Given the description of an element on the screen output the (x, y) to click on. 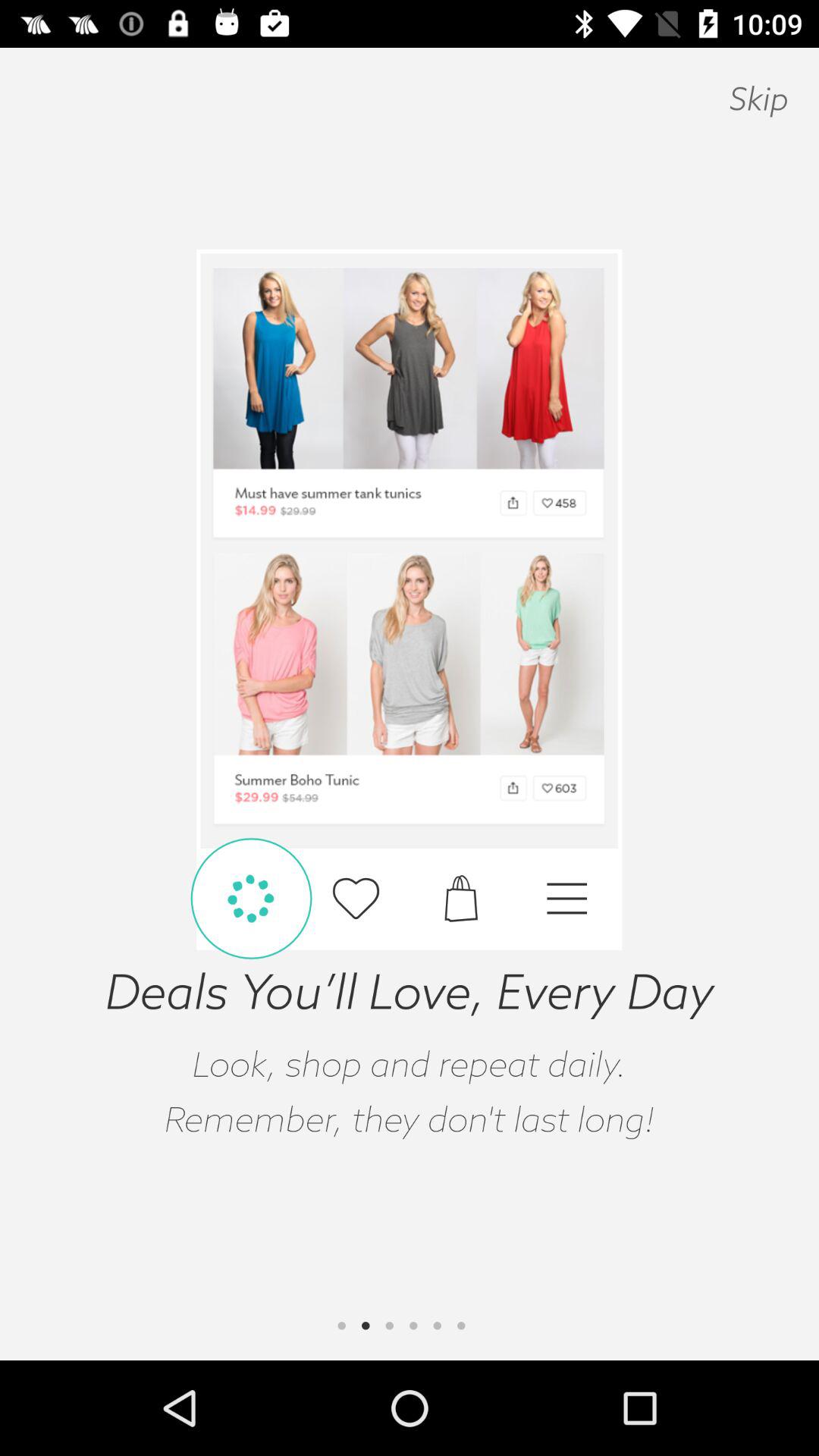
turn off the skip at the top right corner (758, 98)
